Given the description of an element on the screen output the (x, y) to click on. 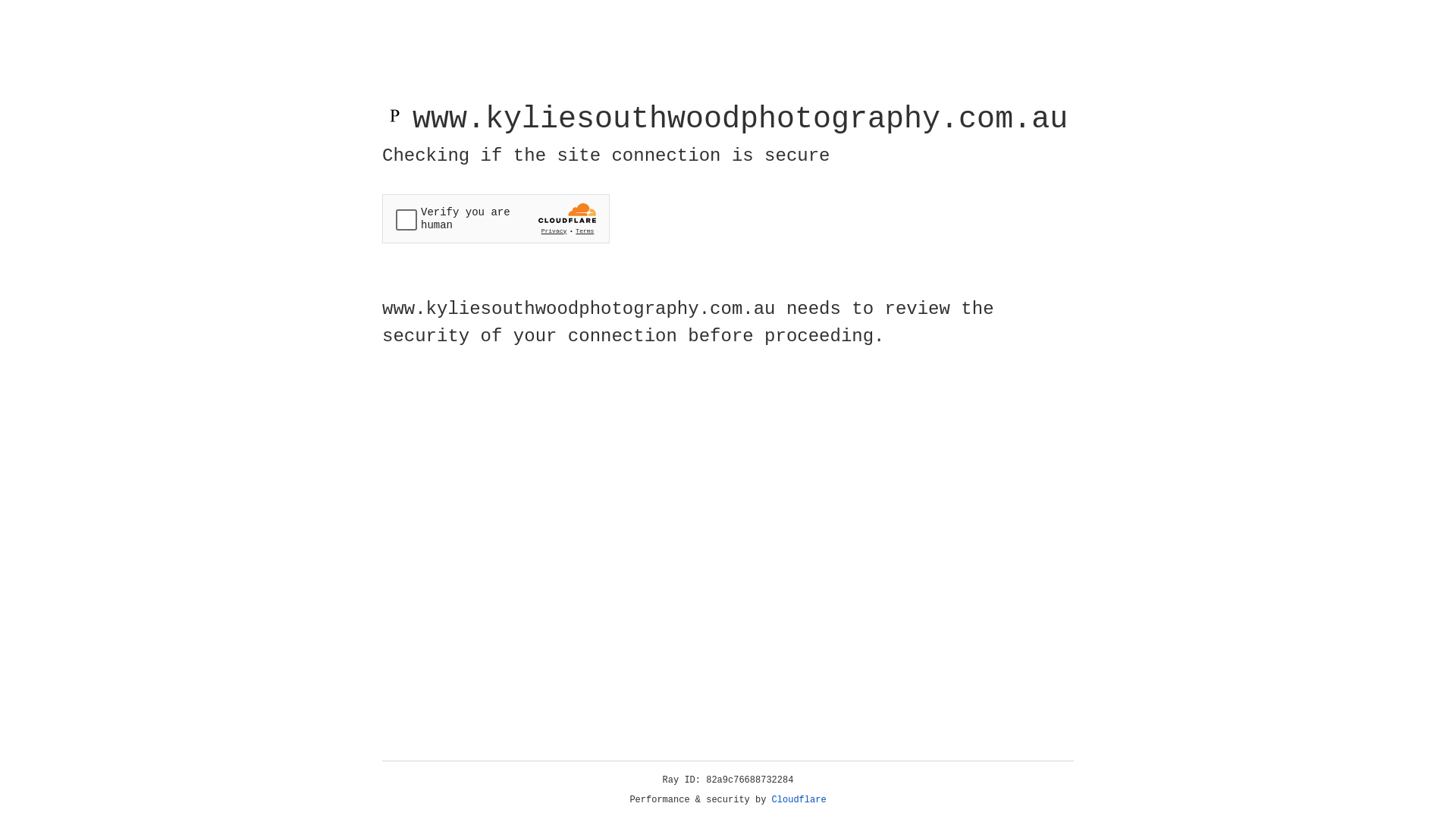
Cloudflare Element type: text (798, 799)
Widget containing a Cloudflare security challenge Element type: hover (495, 218)
